Given the description of an element on the screen output the (x, y) to click on. 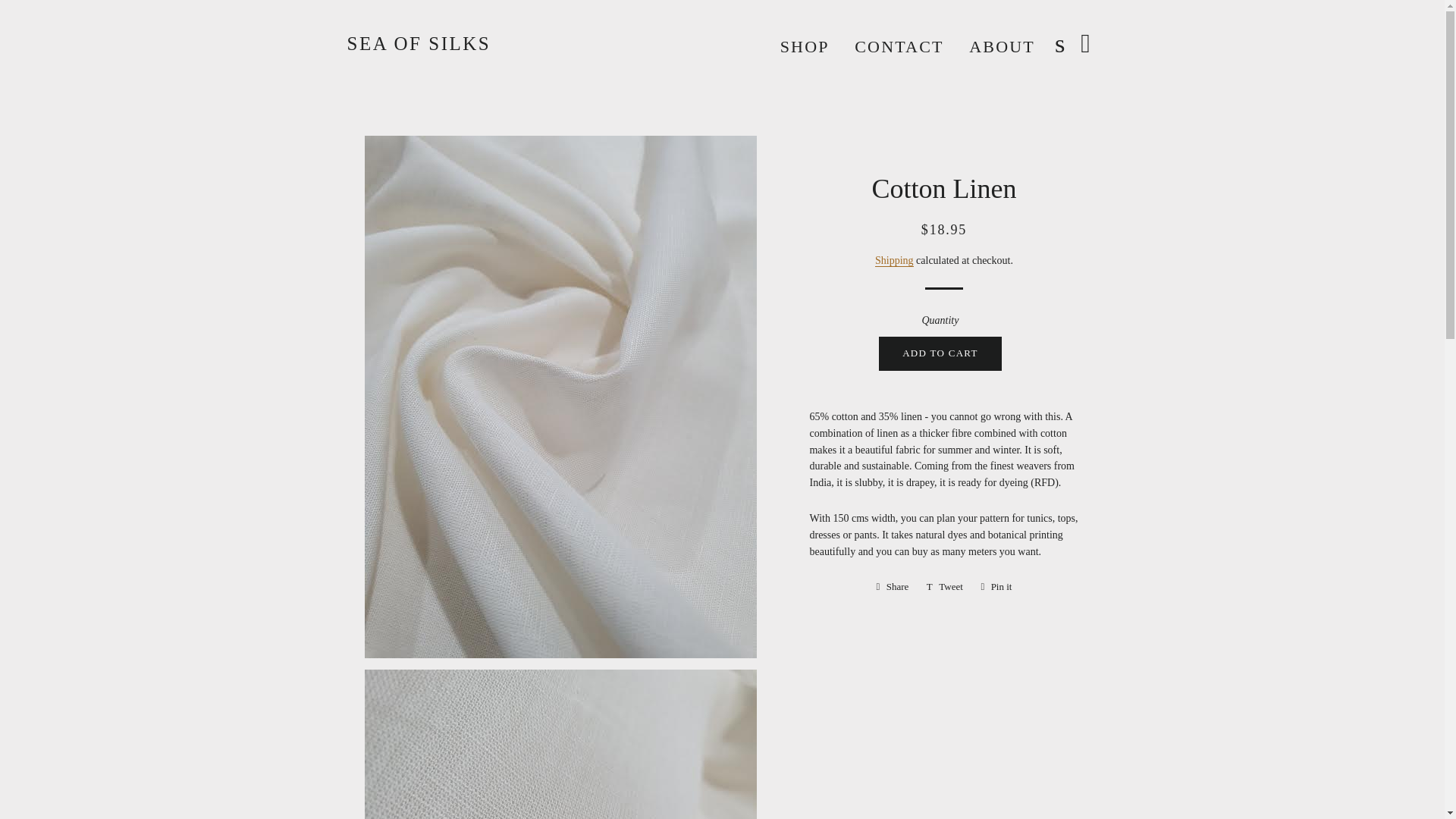
Shipping (894, 260)
Share on Facebook (995, 586)
ABOUT (891, 586)
CART (1002, 46)
CONTACT (1086, 43)
SHOP (899, 46)
ADD TO CART (944, 586)
SEARCH (891, 586)
Pin on Pinterest (804, 46)
SEA OF SILKS (940, 353)
Tweet on Twitter (1059, 43)
